Given the description of an element on the screen output the (x, y) to click on. 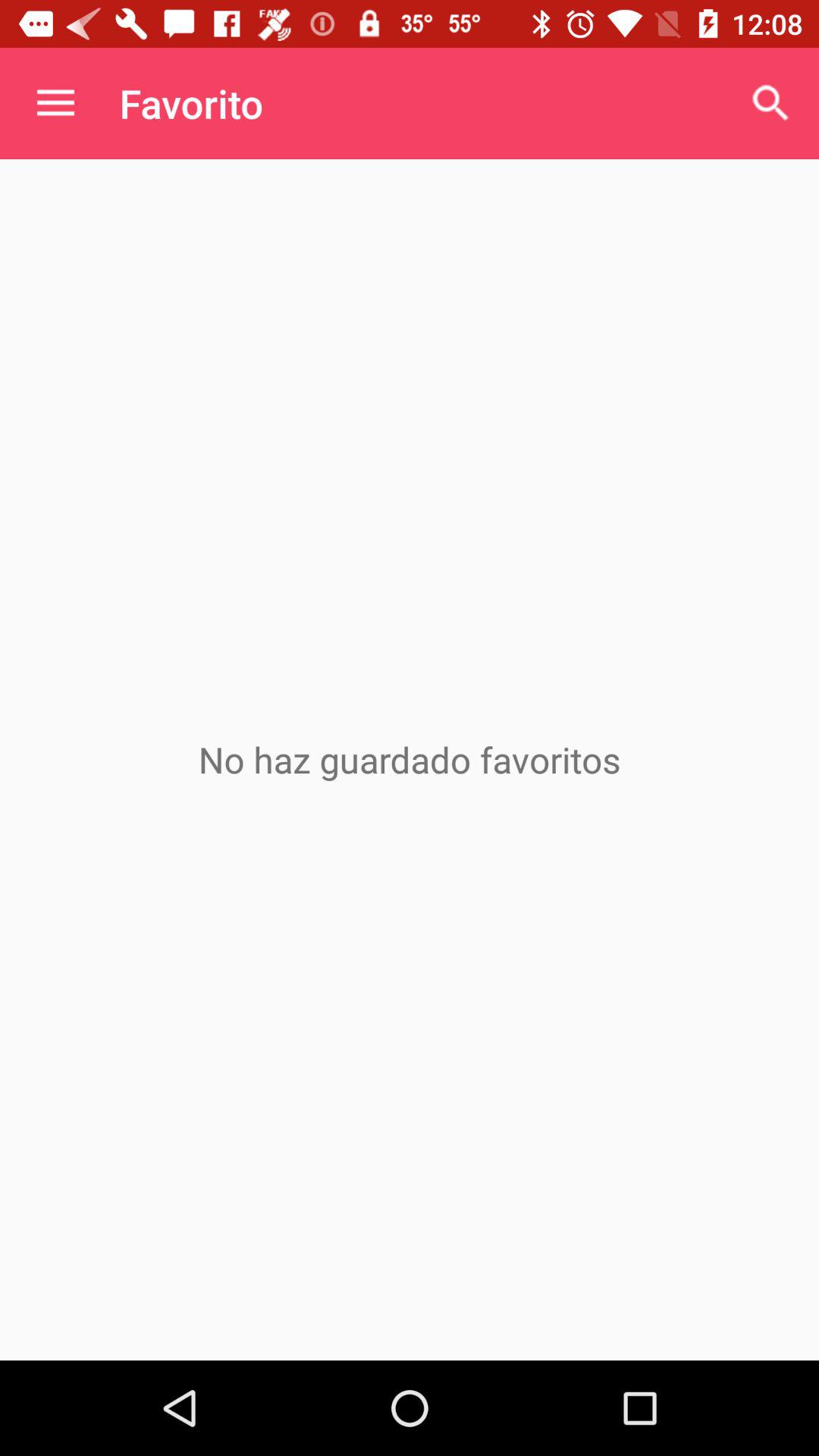
open app to the left of the favorito (55, 103)
